Given the description of an element on the screen output the (x, y) to click on. 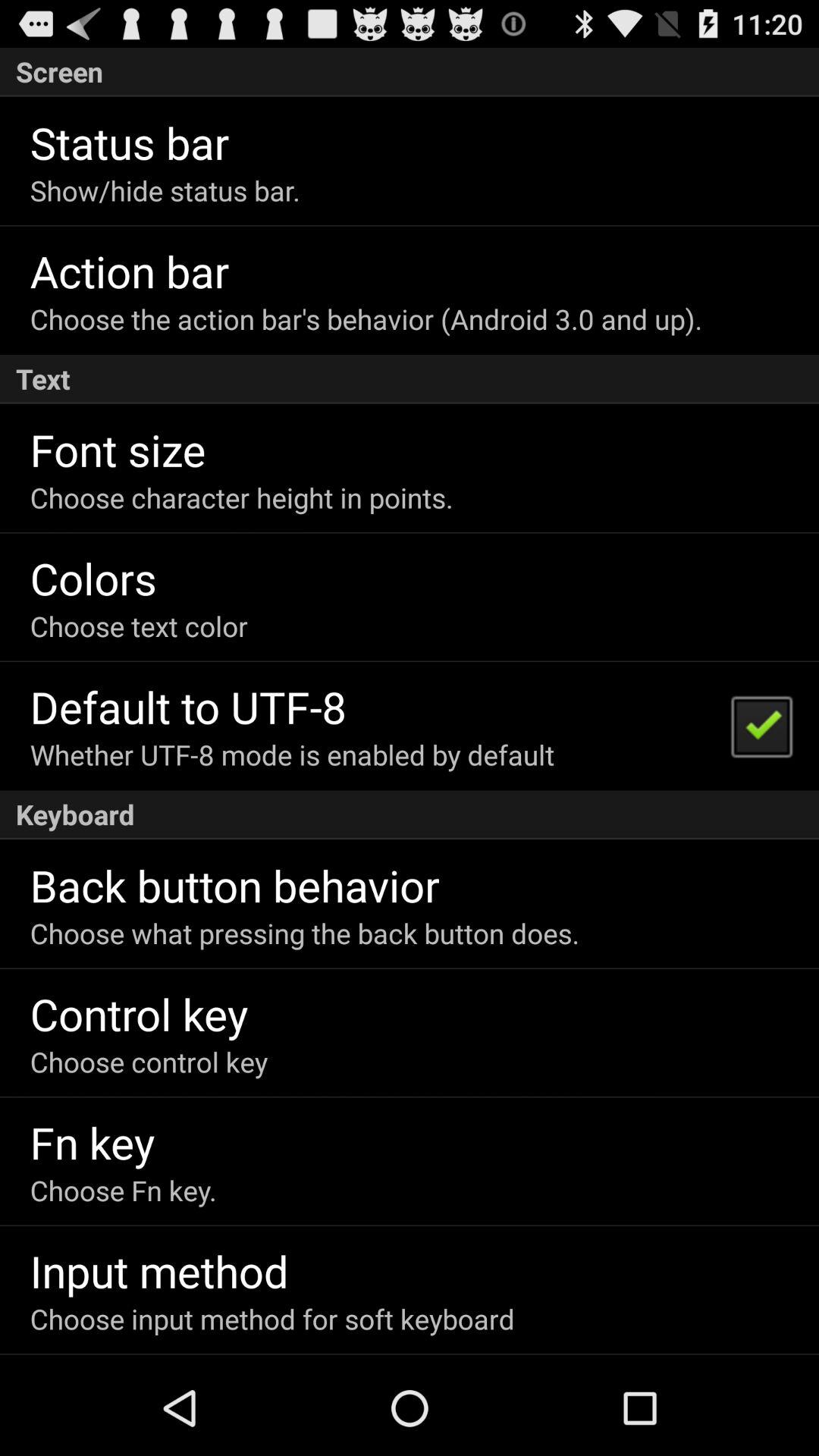
click item below text icon (761, 725)
